Given the description of an element on the screen output the (x, y) to click on. 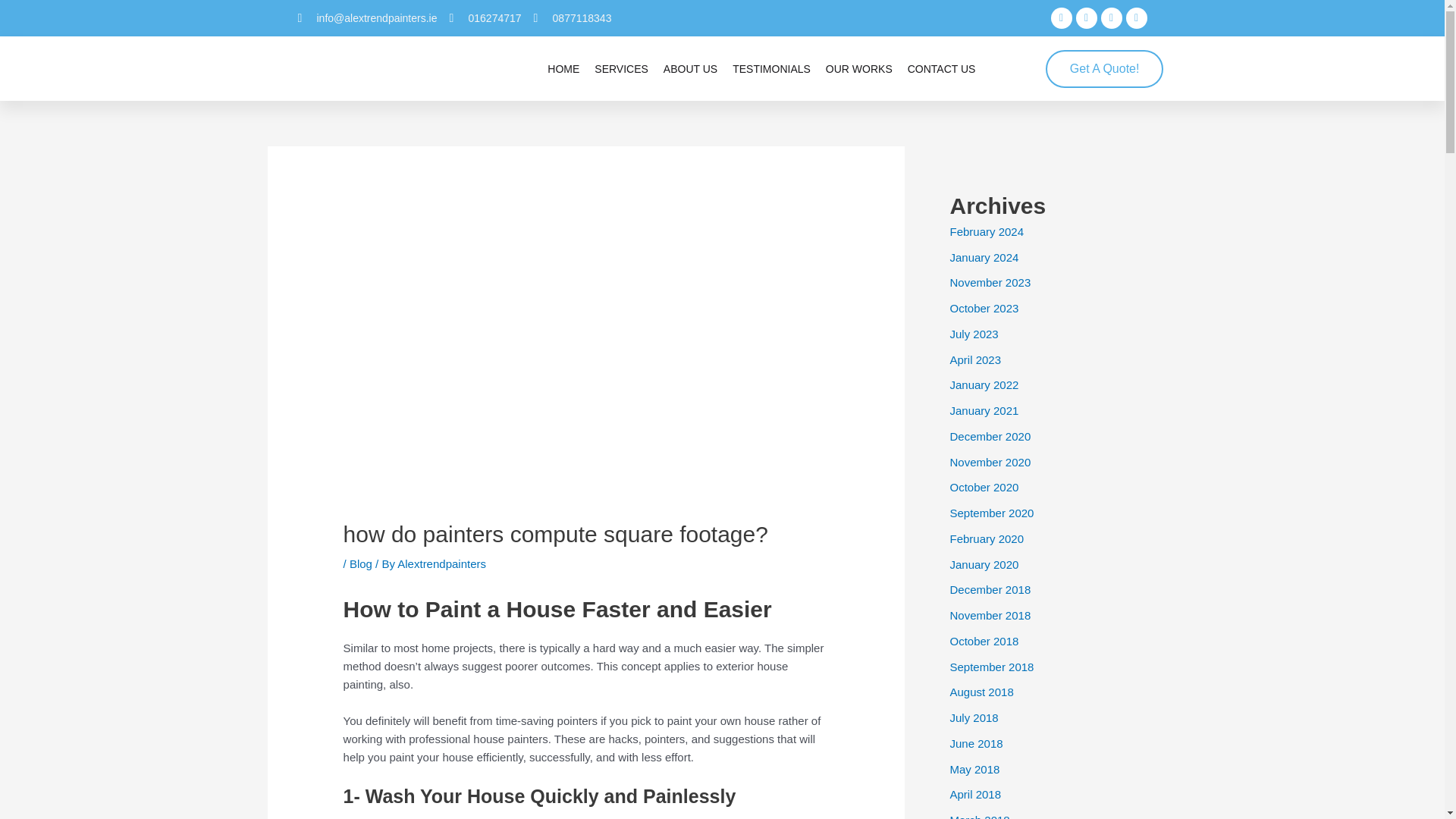
Alextrendpainters (441, 563)
016274717 (484, 18)
HOME (563, 68)
TESTIMONIALS (771, 68)
SERVICES (620, 68)
Get A Quote! (1104, 68)
how do painters compute square footage? 2 (585, 350)
OUR WORKS (858, 68)
0877118343 (572, 18)
CONTACT US (941, 68)
